Given the description of an element on the screen output the (x, y) to click on. 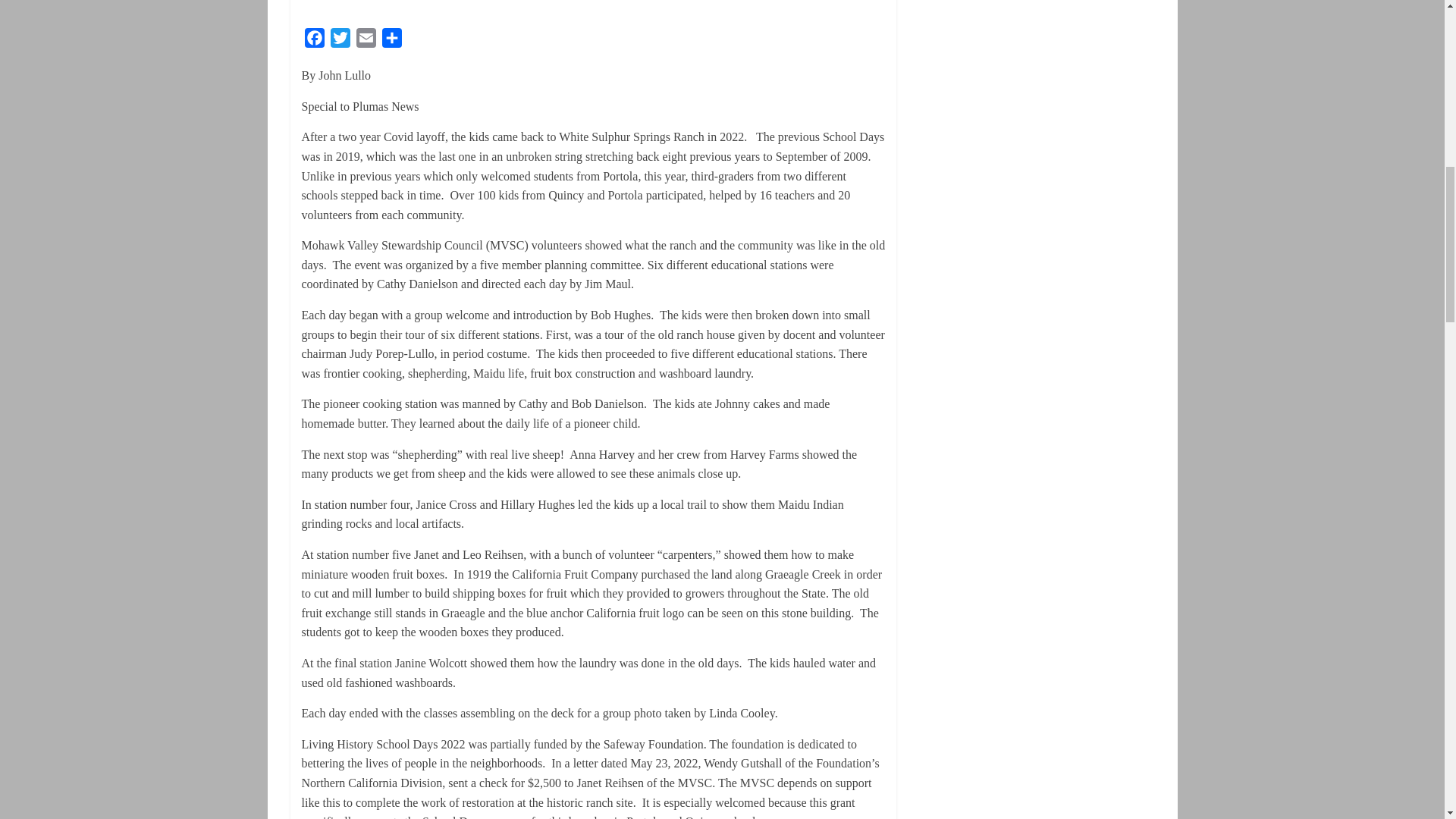
Twitter (340, 40)
Facebook (314, 40)
Email (365, 40)
